Given the description of an element on the screen output the (x, y) to click on. 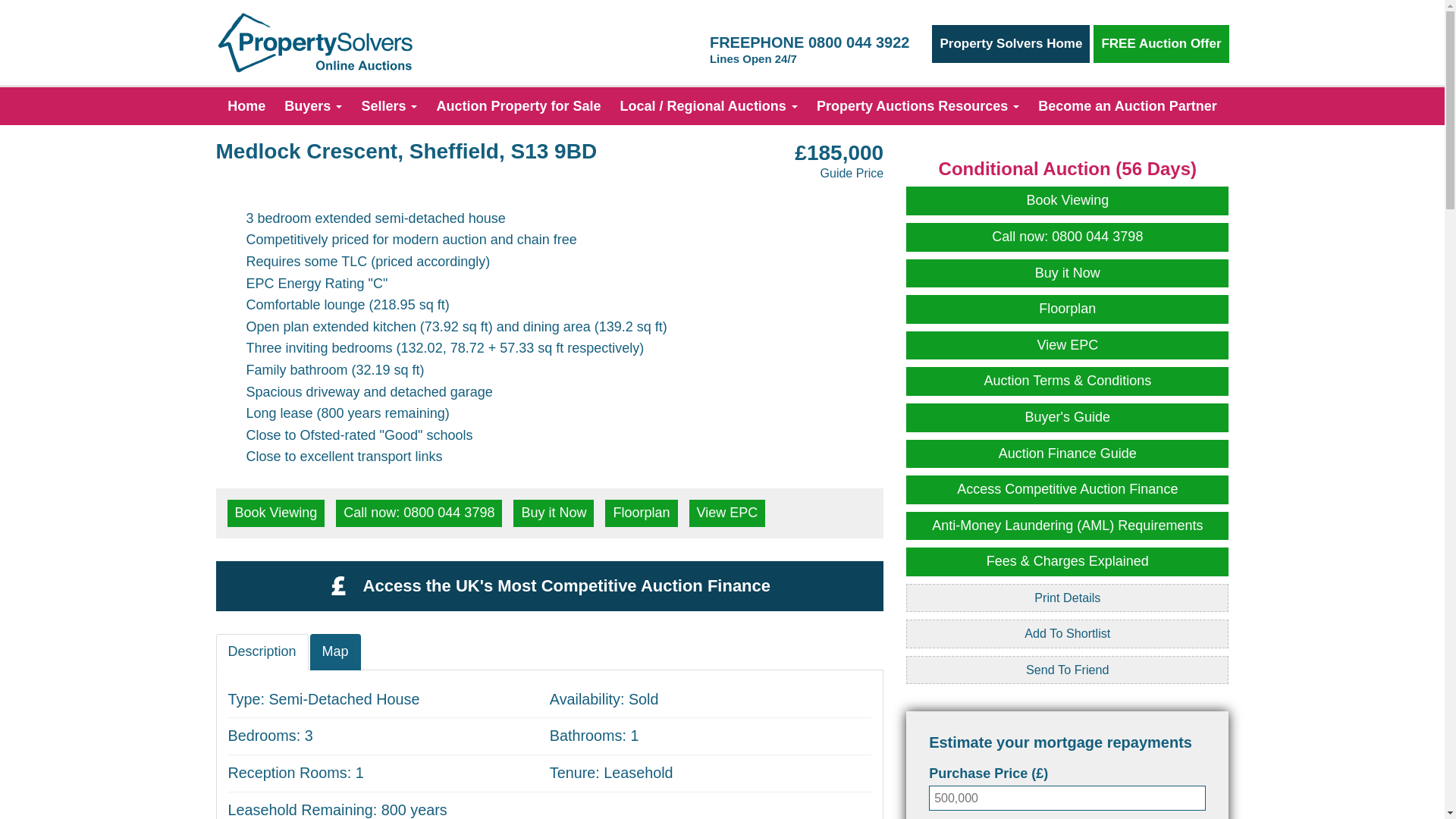
Sellers (389, 105)
Home (246, 105)
Buyers (312, 105)
Property Solvers Home (1010, 44)
FREE Auction Offer (1160, 44)
